Given the description of an element on the screen output the (x, y) to click on. 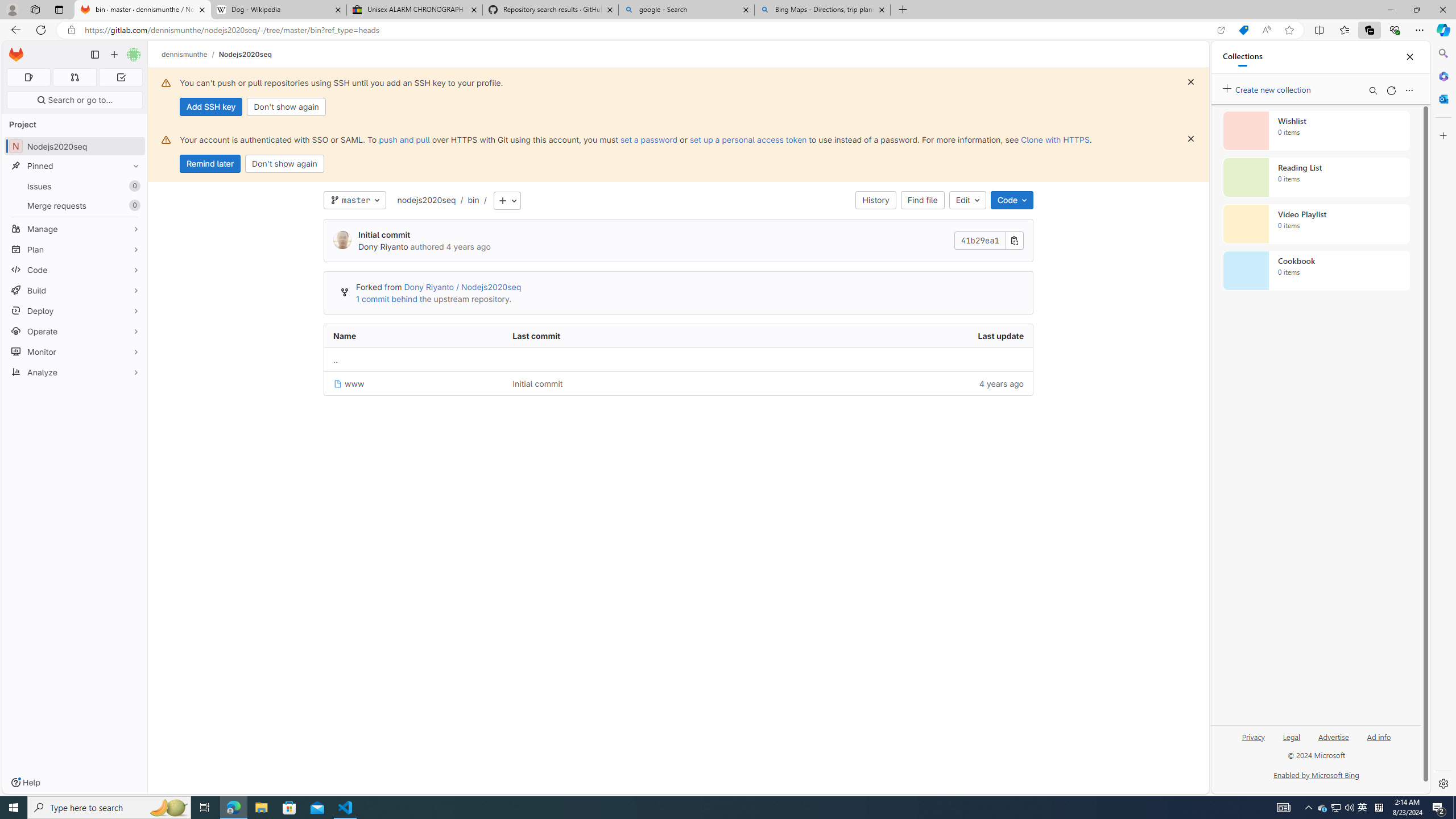
Plan (74, 248)
Go to parent (335, 359)
www (413, 383)
Wishlist collection, 0 items (1316, 130)
Last update (892, 336)
Deploy (74, 310)
Assigned issues 0 (28, 76)
Merge requests 0 (74, 76)
Open in app (1220, 29)
